Given the description of an element on the screen output the (x, y) to click on. 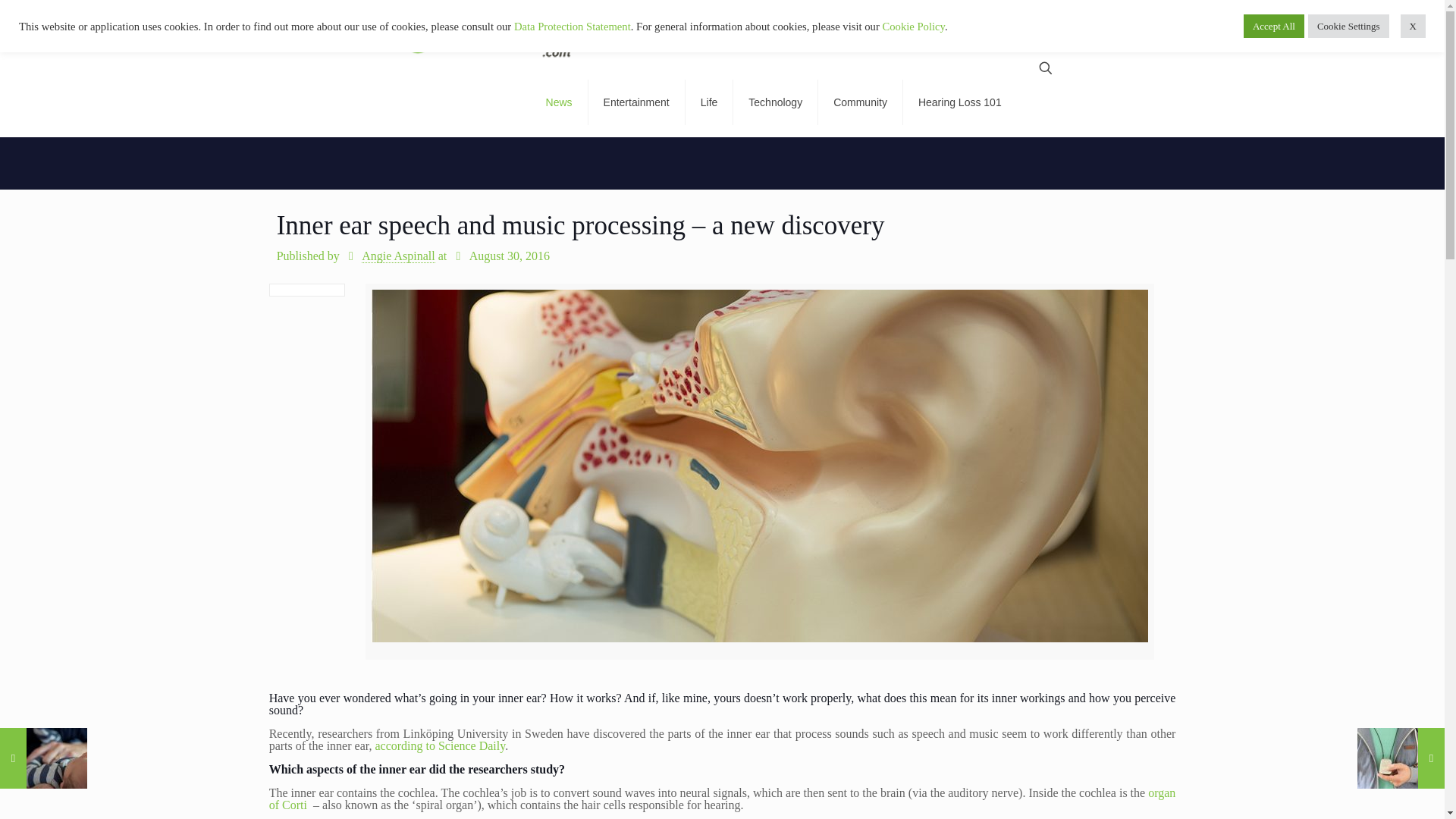
Entertainment (636, 101)
Hearing Loss 101 (959, 101)
Community (860, 101)
Hearing Like Me (430, 33)
Technology (775, 101)
